Given the description of an element on the screen output the (x, y) to click on. 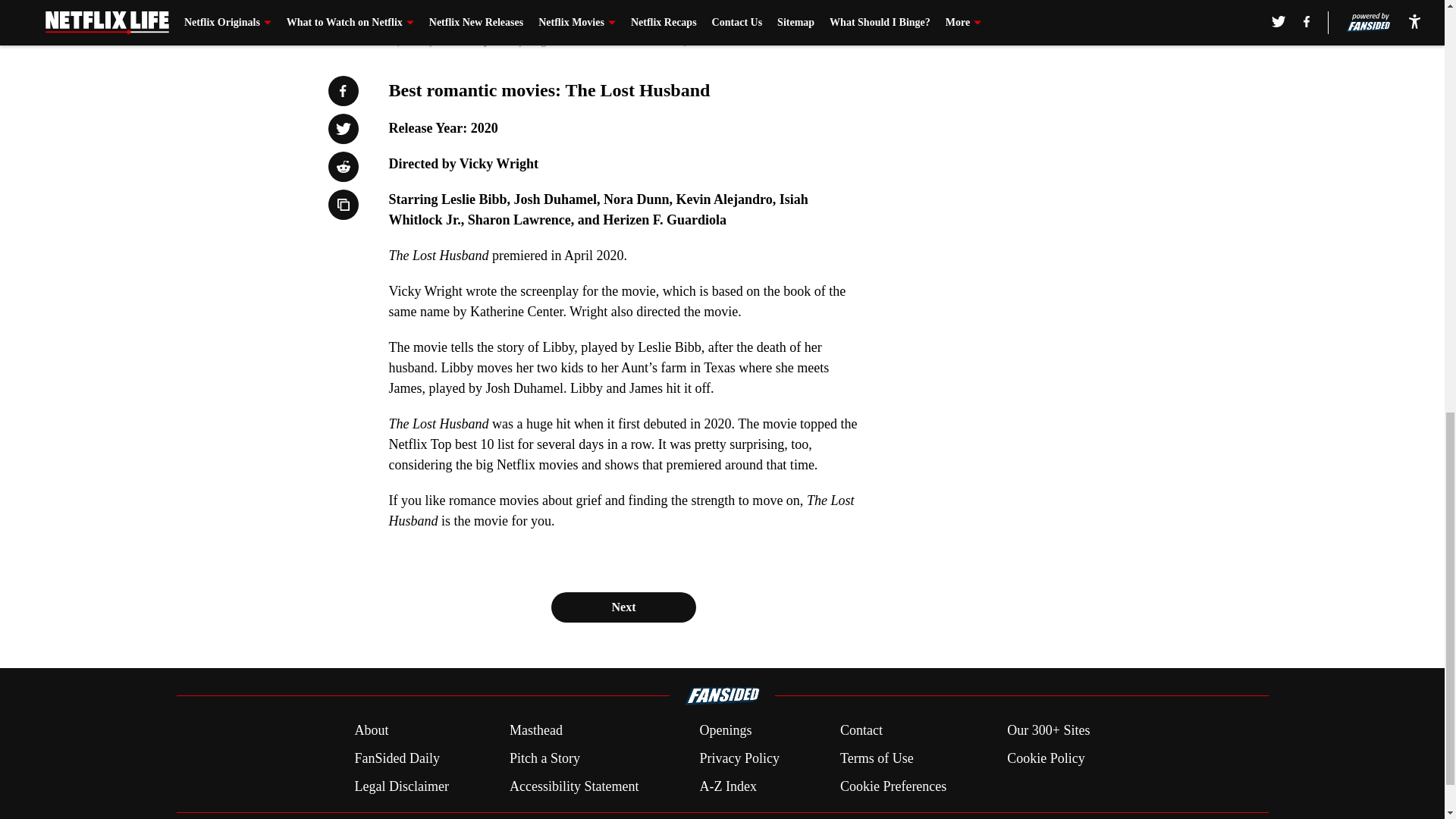
romantic movie - The Lost Husband Netflix (623, 10)
